Given the description of an element on the screen output the (x, y) to click on. 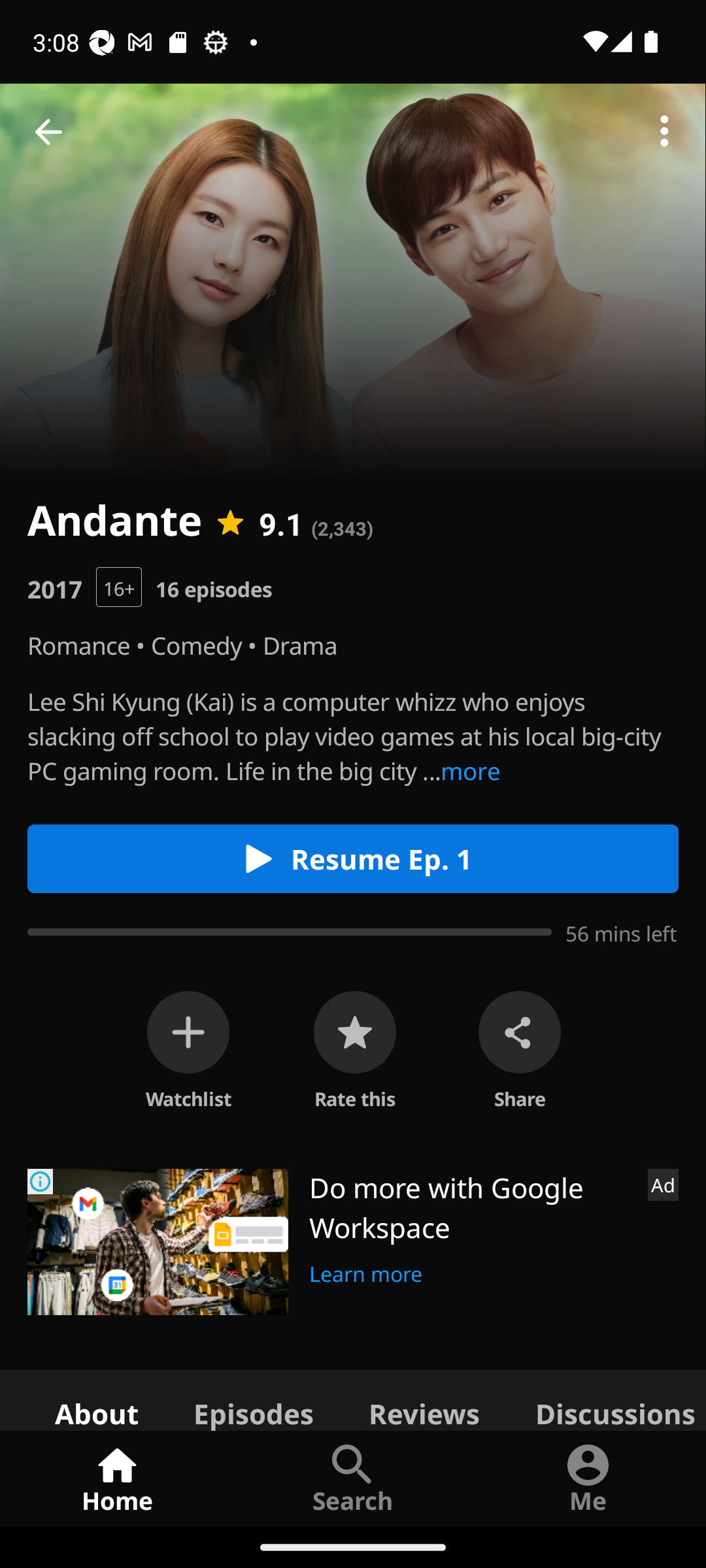
More (664, 131)
off (187, 1032)
Ad Choices Icon (39, 1181)
Do more with Google Workspace (471, 1207)
Learn more (365, 1271)
Episodes (252, 1400)
Reviews (423, 1400)
Discussions (606, 1400)
Search (352, 1478)
Me (588, 1478)
